Given the description of an element on the screen output the (x, y) to click on. 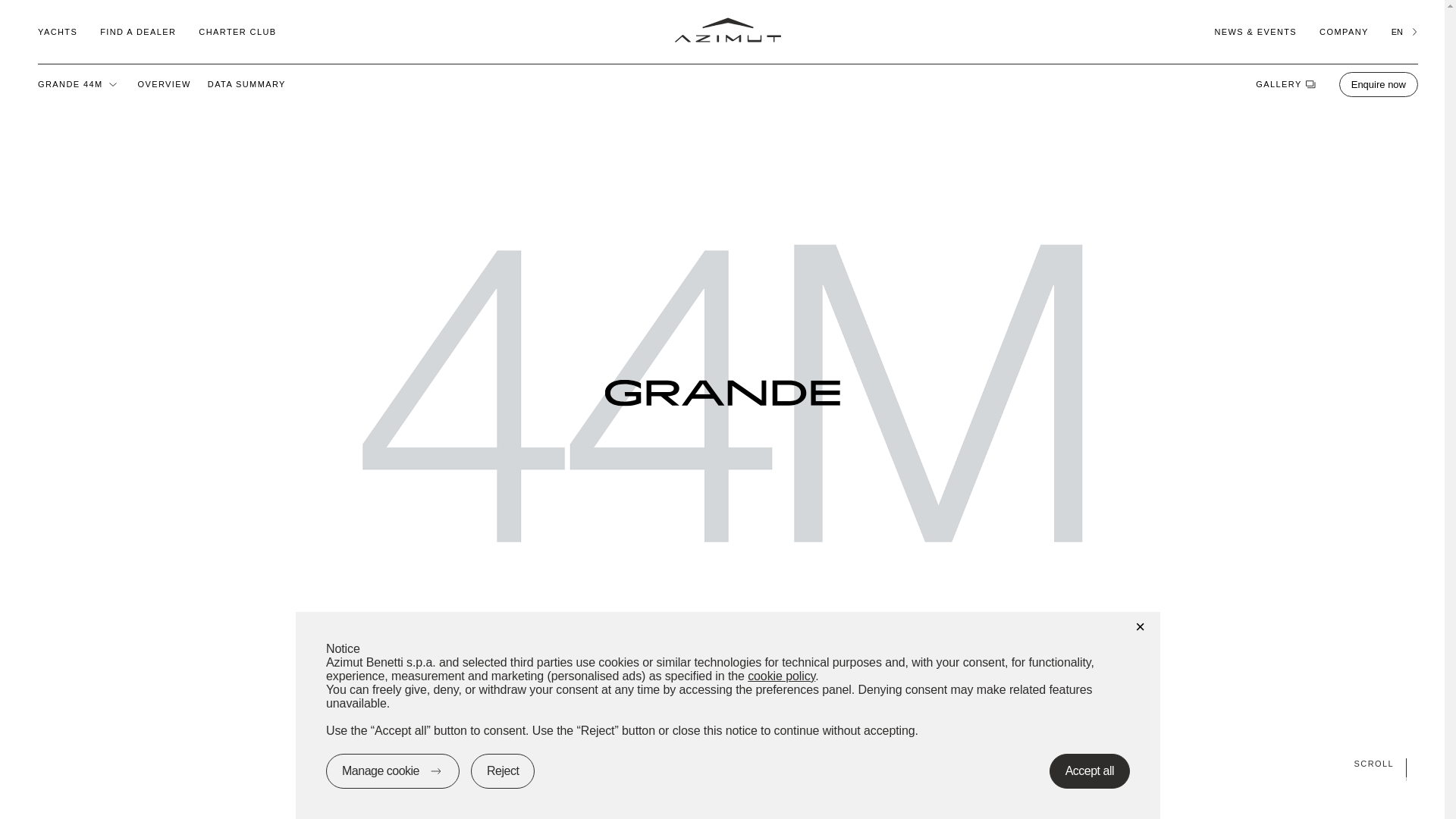
FIND A DEALER (138, 31)
OVERVIEW (164, 83)
DATA SUMMARY (246, 83)
Enquire now (1378, 83)
YACHTS (57, 31)
EN (1404, 31)
SCROLL (722, 763)
COMPANY (1343, 31)
CHARTER CLUB (237, 31)
